Given the description of an element on the screen output the (x, y) to click on. 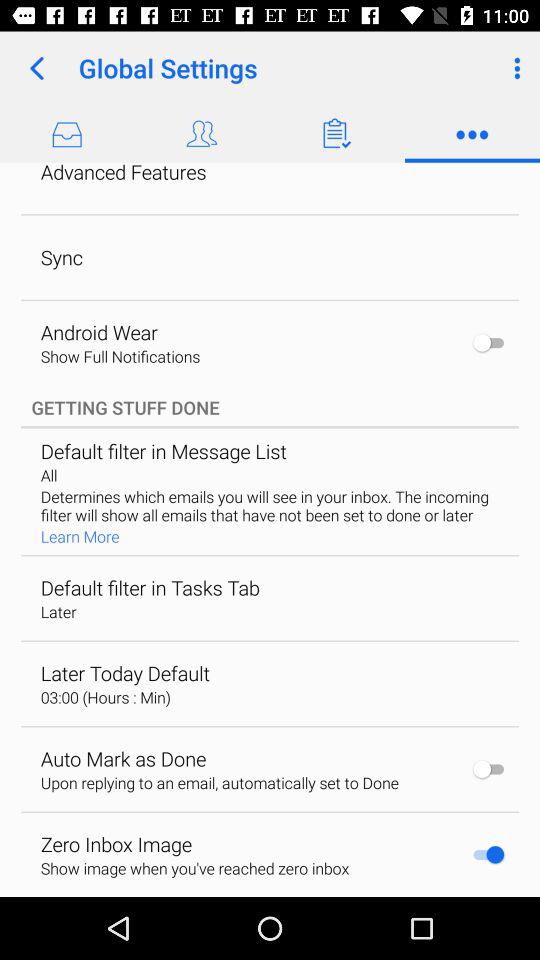
open the app below sync (98, 332)
